Given the description of an element on the screen output the (x, y) to click on. 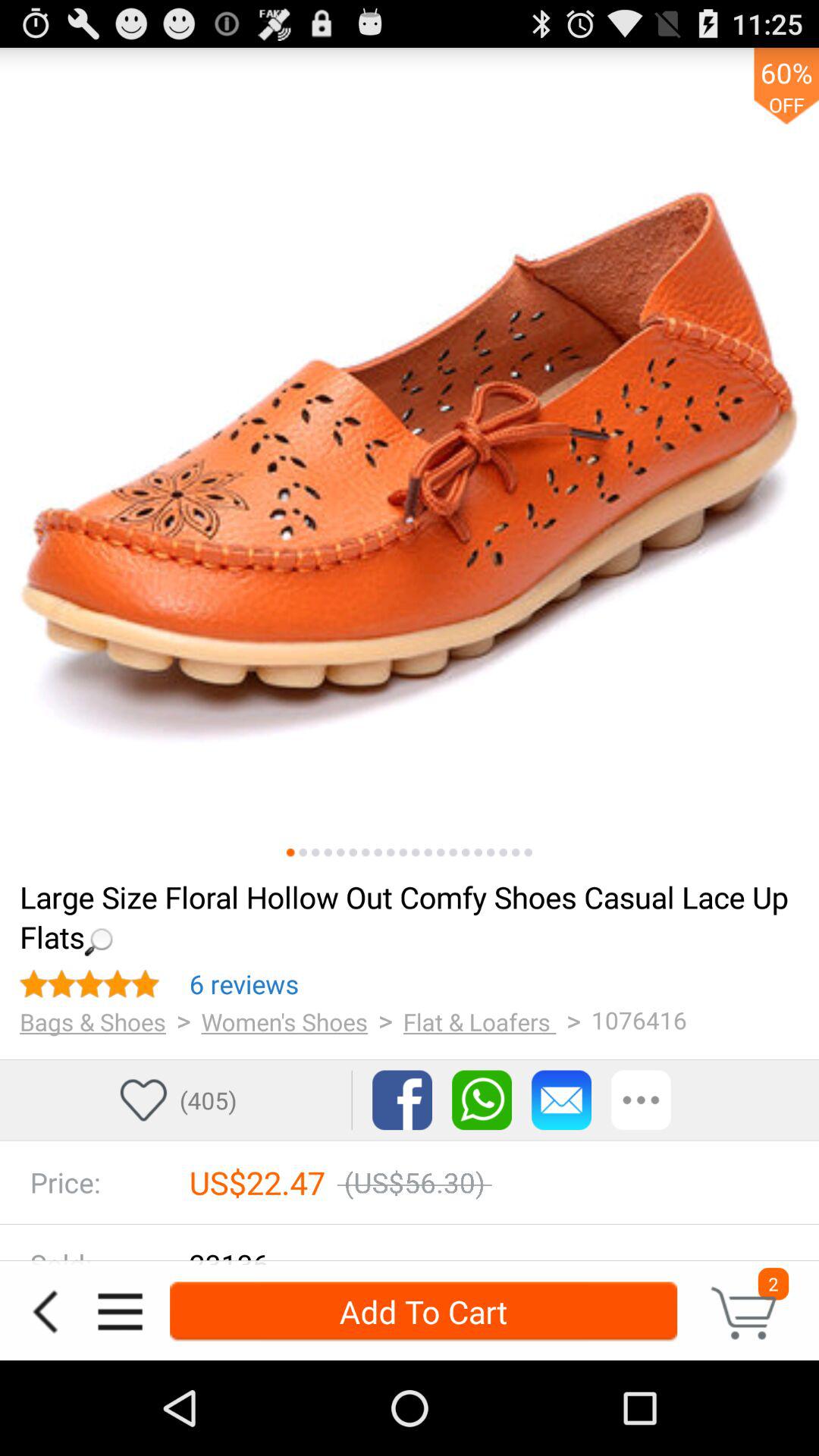
select a different image (515, 852)
